Given the description of an element on the screen output the (x, y) to click on. 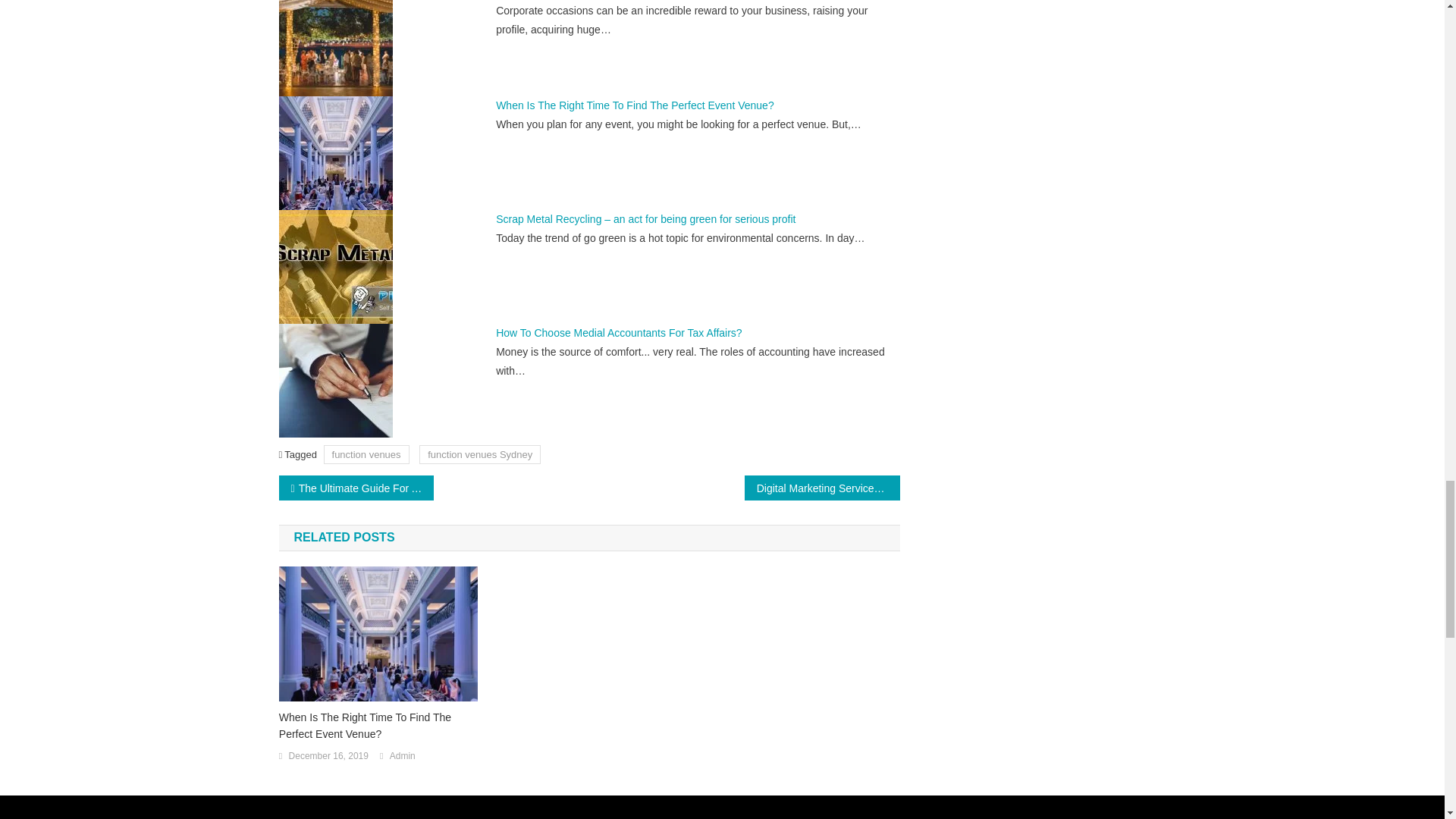
function venues (366, 454)
function venues Sydney (479, 454)
How To Choose Medial Accountants For Tax Affairs? (619, 332)
When Is The Right Time To Find The Perfect Event Venue? (378, 725)
The Ultimate Guide For Accounting Construction (356, 487)
When Is The Right Time To Find The Perfect Event Venue? (635, 105)
